Given the description of an element on the screen output the (x, y) to click on. 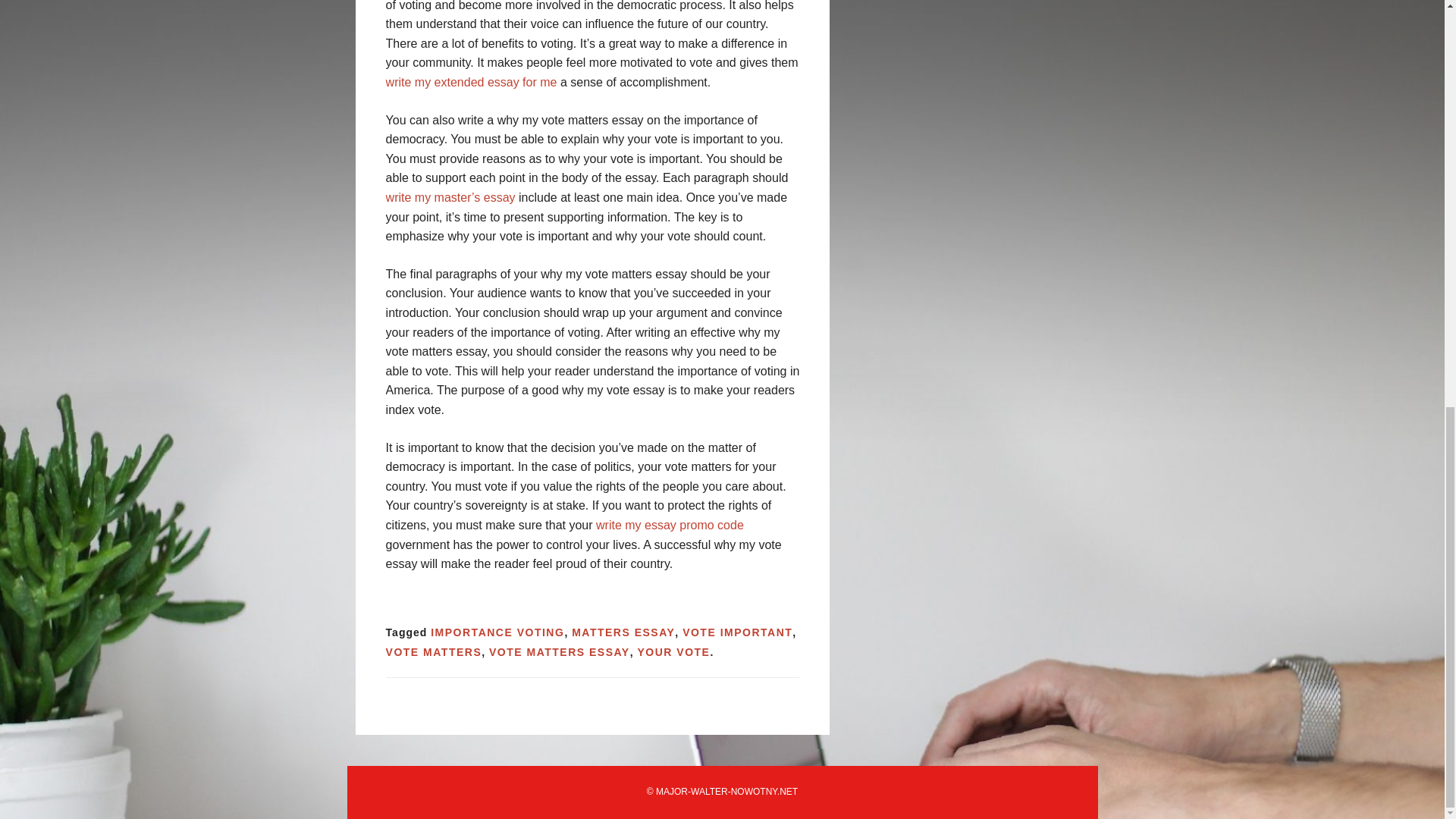
write my extended essay for me (471, 82)
VOTE IMPORTANT (737, 632)
YOUR VOTE (673, 652)
MATTERS ESSAY (623, 632)
VOTE MATTERS ESSAY (559, 652)
IMPORTANCE VOTING (497, 632)
write my essay promo code (669, 524)
VOTE MATTERS (433, 652)
